Given the description of an element on the screen output the (x, y) to click on. 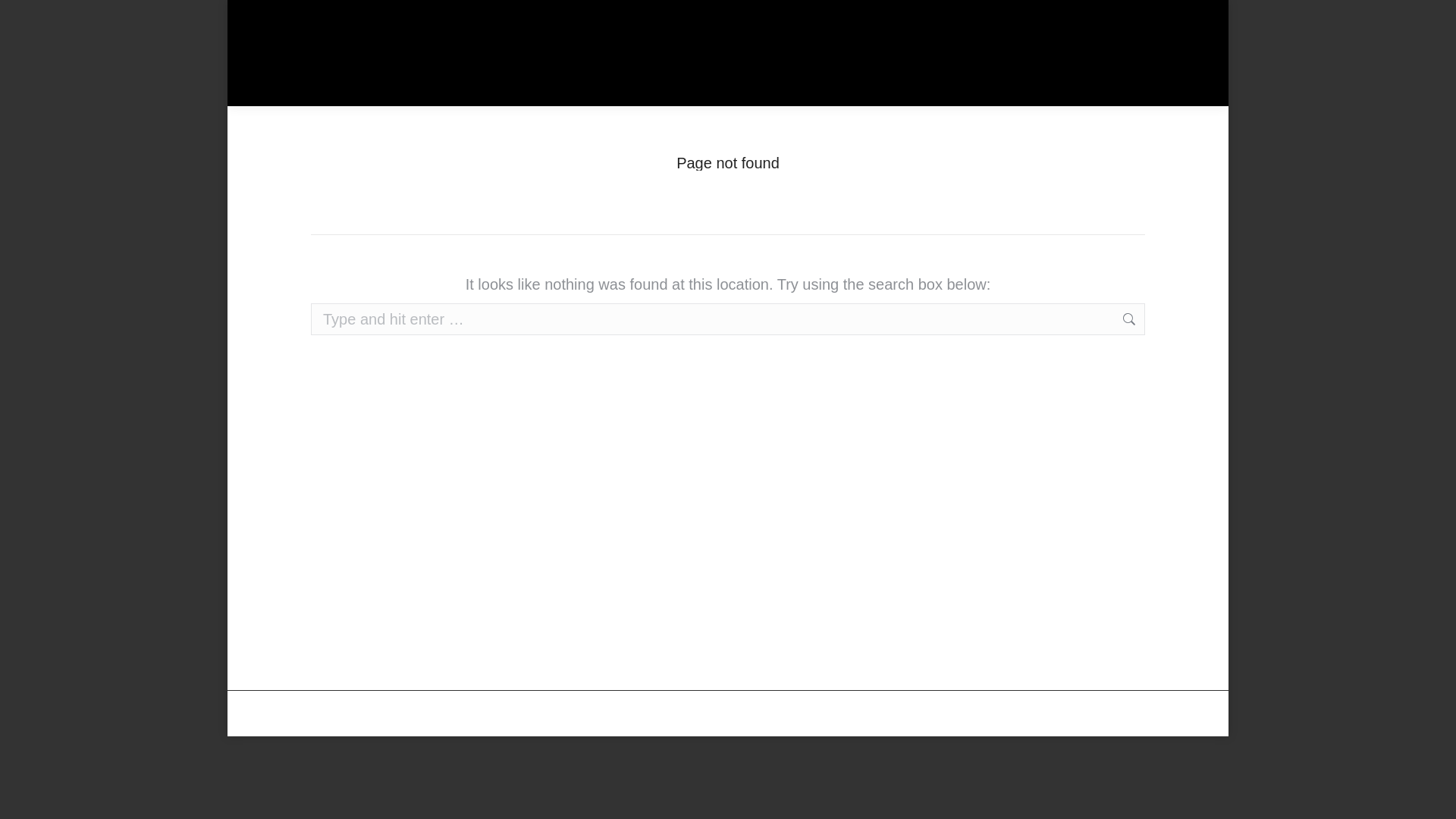
Go! (1166, 318)
Home (700, 177)
Go! (1166, 318)
Home (700, 177)
Go! (1166, 318)
